Given the description of an element on the screen output the (x, y) to click on. 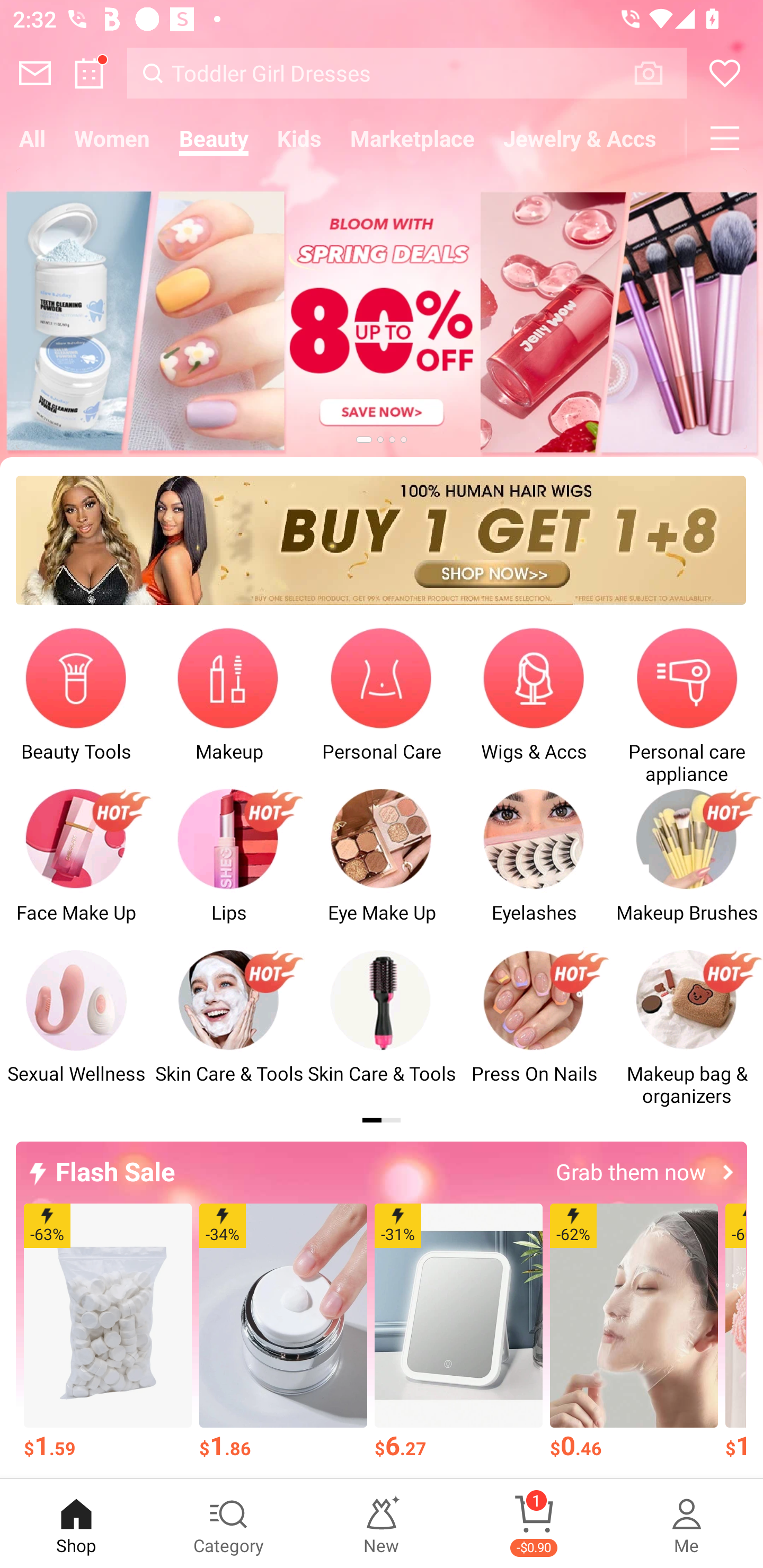
Wishlist (724, 72)
VISUAL SEARCH (657, 72)
All (31, 137)
Women (111, 137)
Beauty (213, 137)
Kids (298, 137)
Marketplace (412, 137)
Jewelry & Accs (580, 137)
Beauty Tools (76, 705)
Makeup (228, 705)
Personal Care (381, 705)
Wigs & Accs (533, 705)
Personal care appliance (686, 705)
Face Make Up (76, 866)
Lips (228, 866)
Eye Make Up (381, 866)
Eyelashes (533, 866)
Makeup Brushes (686, 866)
Sexual Wellness (76, 1027)
Skin Care & Tools (228, 1027)
Skin Care & Tools (381, 1027)
Press On Nails (533, 1027)
Makeup bag & organizers (686, 1027)
Category (228, 1523)
New (381, 1523)
Cart 1 -$0.90 (533, 1523)
Me (686, 1523)
